Given the description of an element on the screen output the (x, y) to click on. 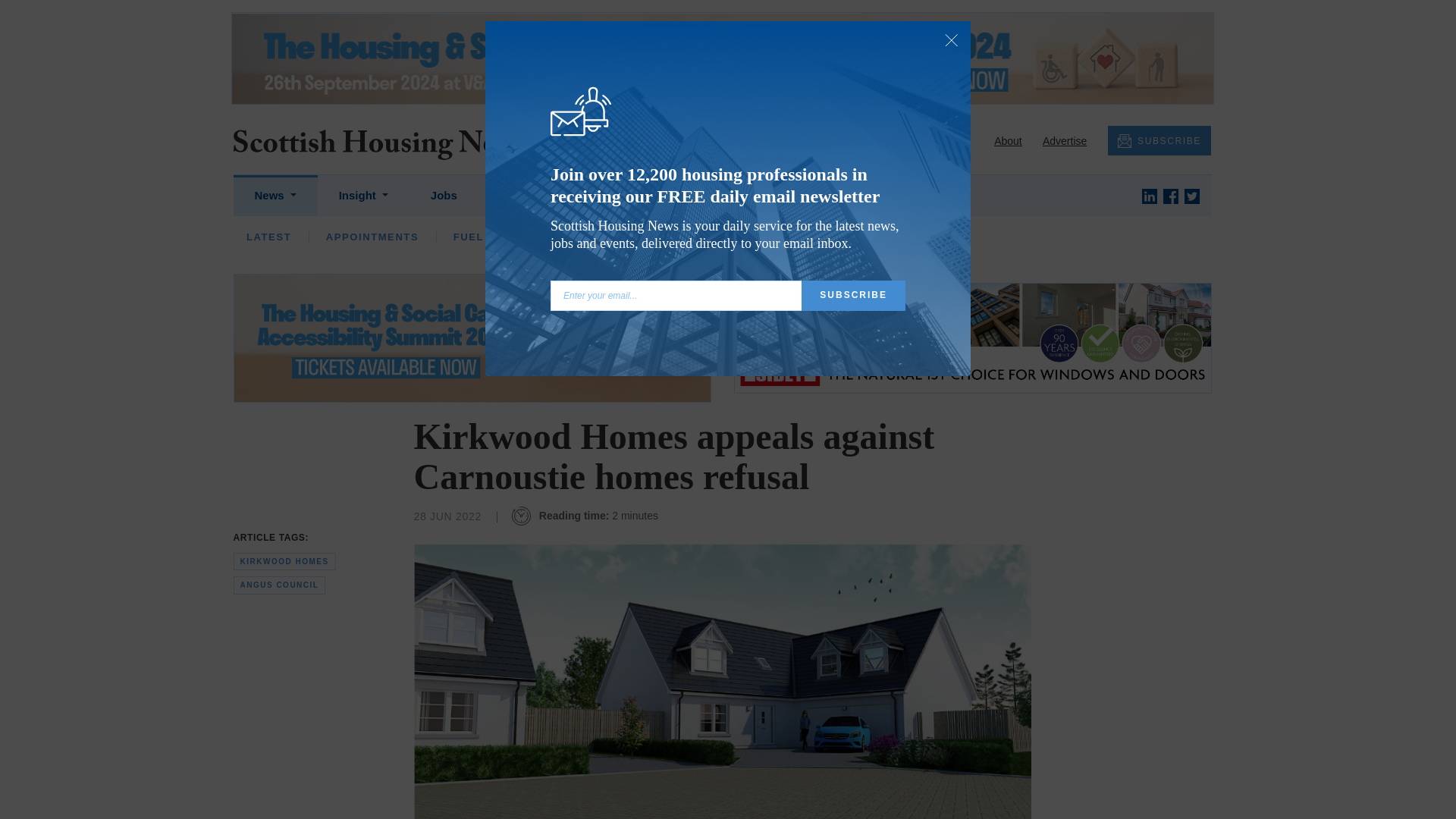
OUR HOUSING HERITAGE (1035, 236)
SUBSCRIBE (1158, 140)
About (1008, 141)
Advertise (1064, 141)
BLACK'S BLOG (883, 236)
WELFARE (795, 236)
APPOINTMENTS (372, 236)
HOUSING CHAMPIONS (582, 236)
Podcast (601, 196)
INTERVIEWS (446, 236)
Events (518, 196)
HOMELESSNESS (626, 236)
PRS (721, 236)
Insight (363, 196)
OPINION (350, 236)
